Given the description of an element on the screen output the (x, y) to click on. 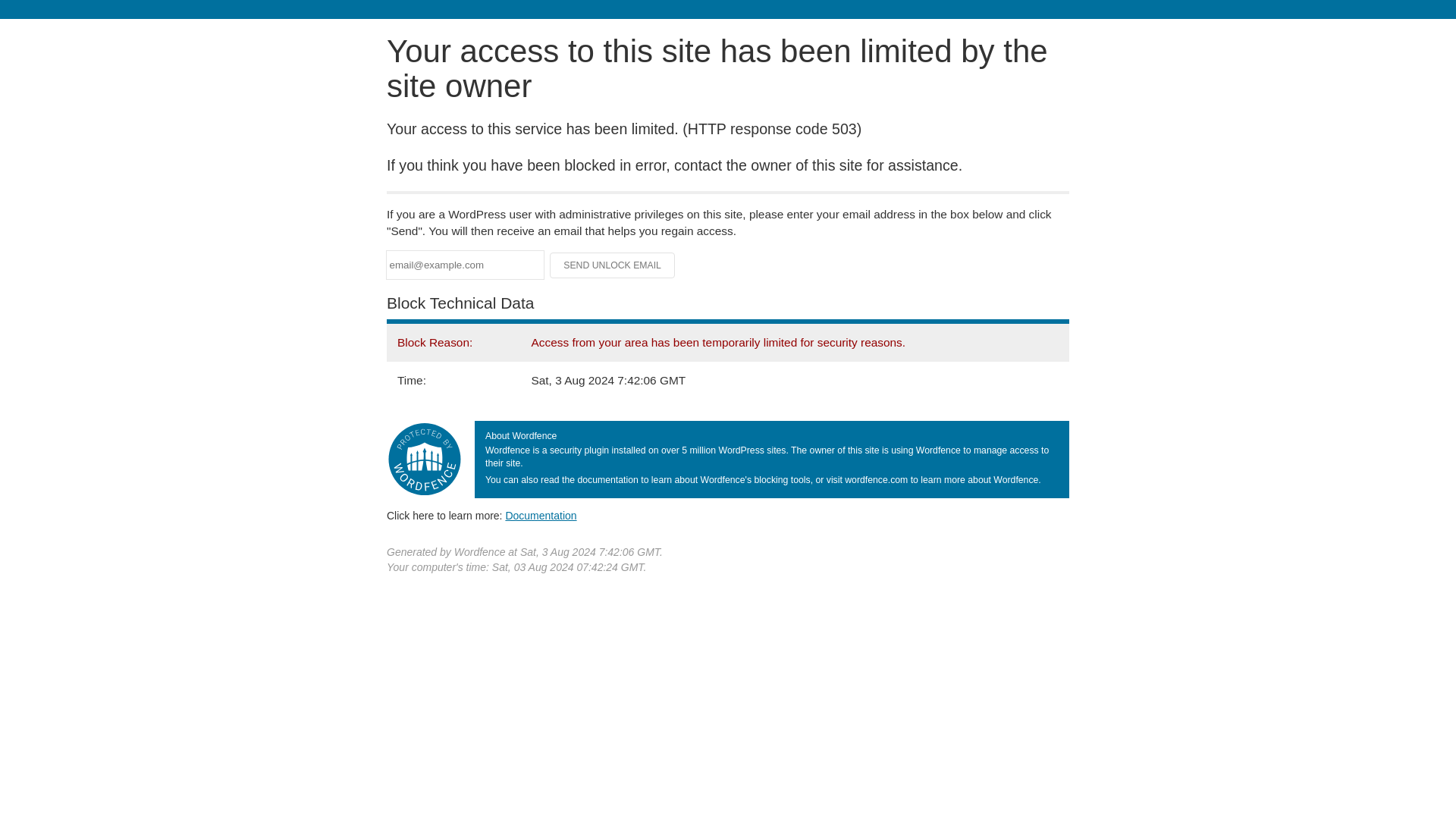
Send Unlock Email (612, 265)
Documentation (540, 515)
Send Unlock Email (612, 265)
